Given the description of an element on the screen output the (x, y) to click on. 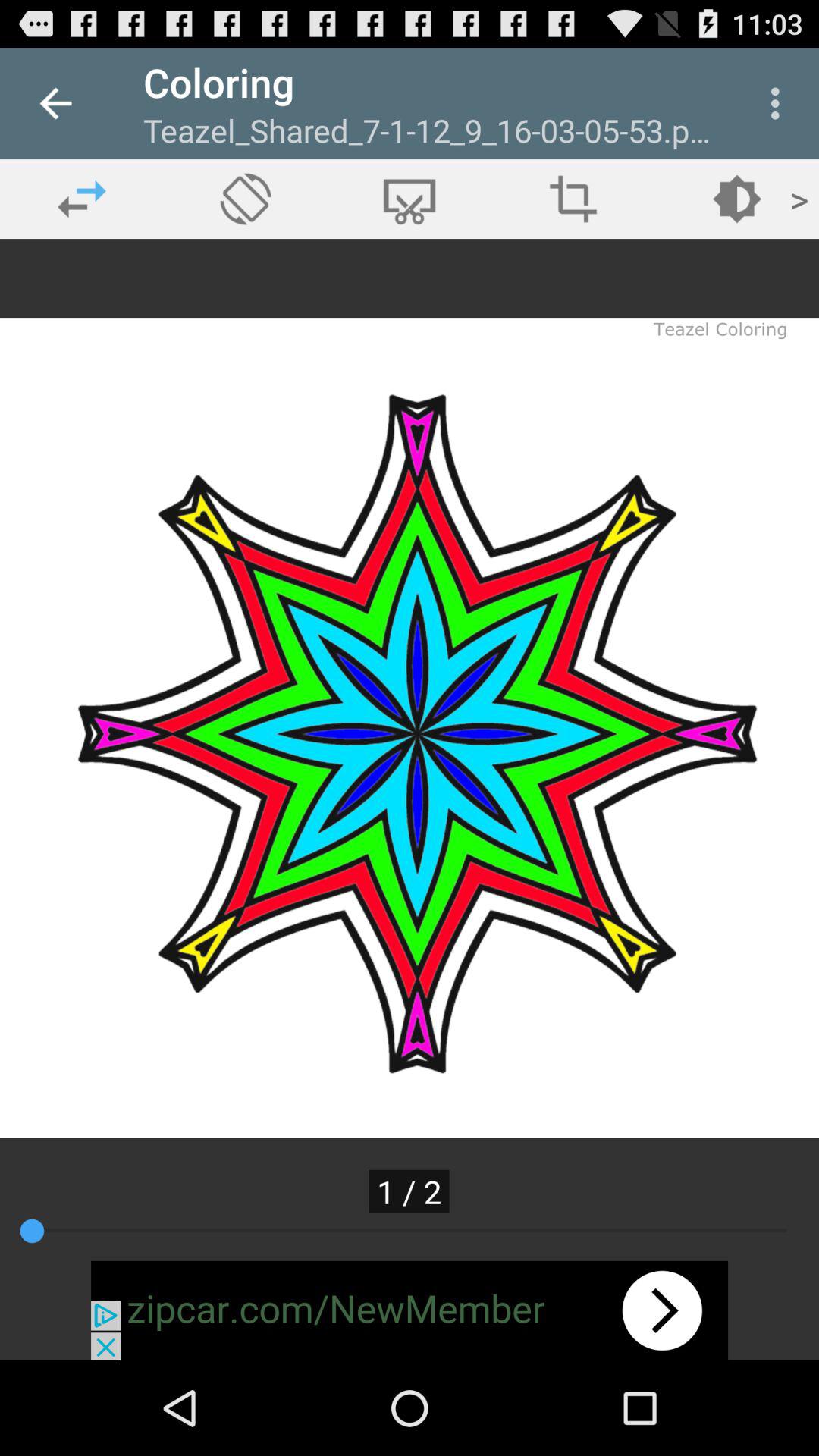
copy option (409, 198)
